Given the description of an element on the screen output the (x, y) to click on. 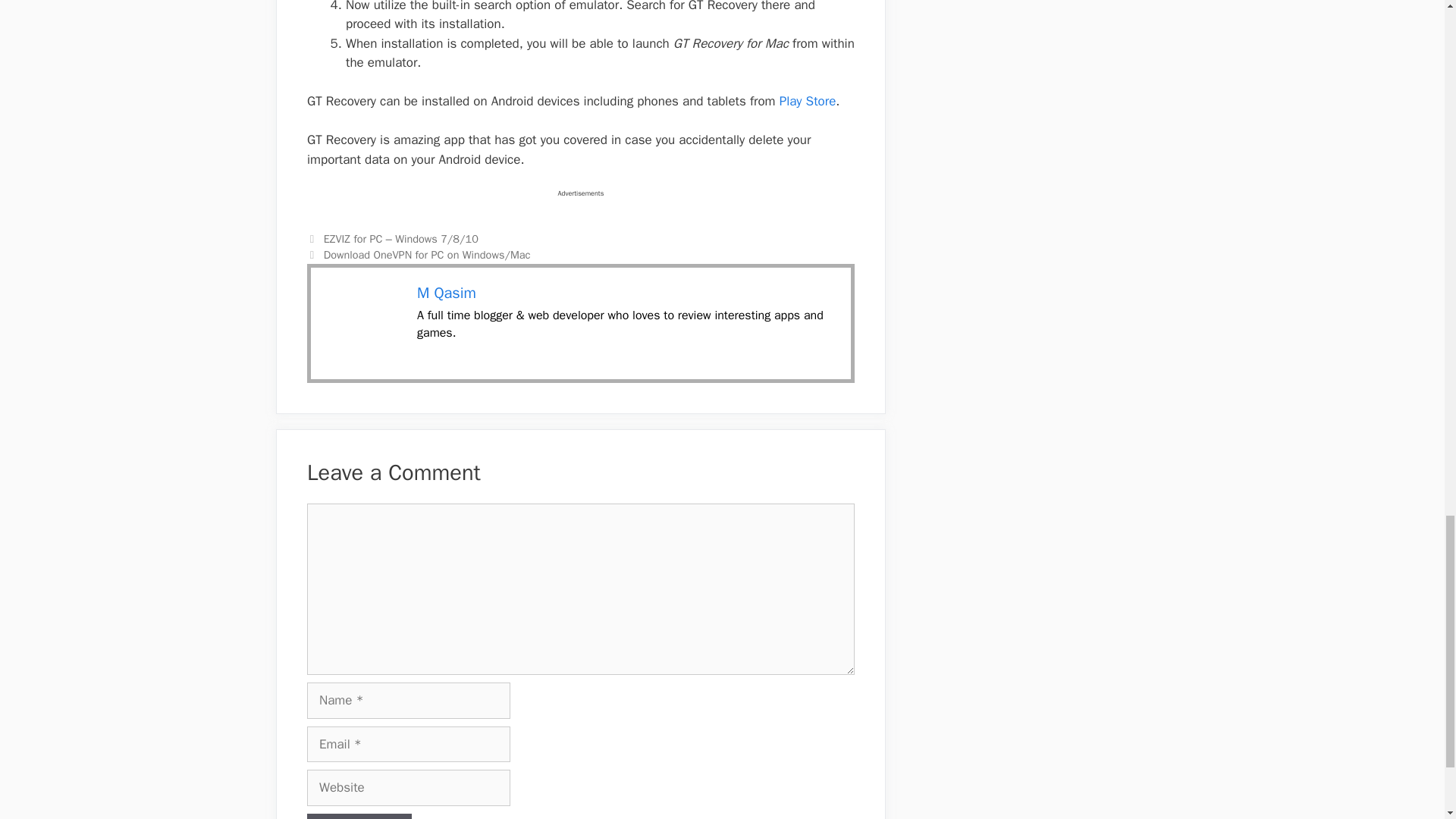
Next (418, 254)
Post Comment (359, 816)
Previous (393, 238)
Post Comment (359, 816)
Play Store (806, 100)
M Qasim (446, 292)
